Given the description of an element on the screen output the (x, y) to click on. 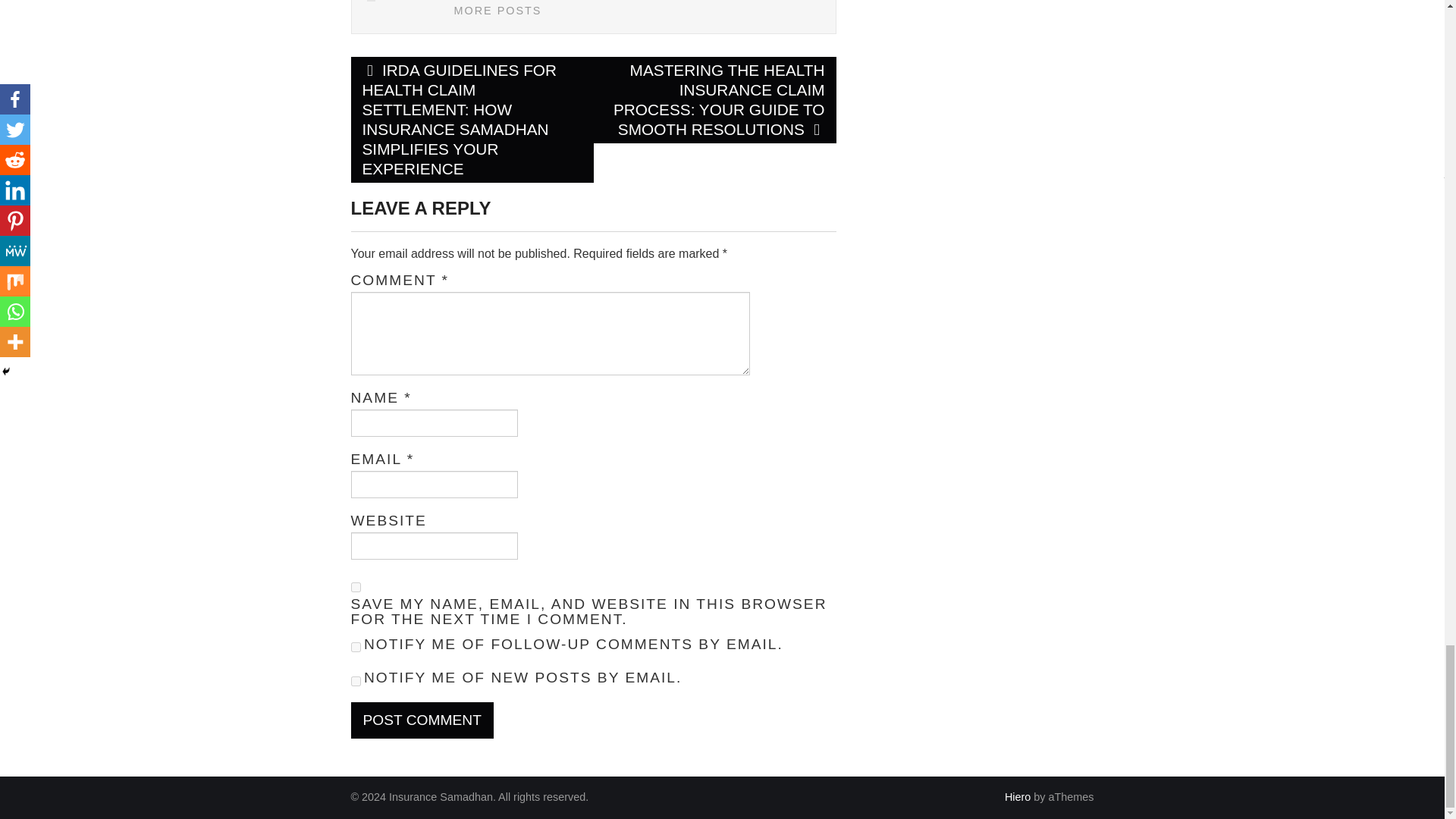
subscribe (354, 681)
yes (354, 587)
Post Comment (421, 719)
subscribe (354, 646)
